Given the description of an element on the screen output the (x, y) to click on. 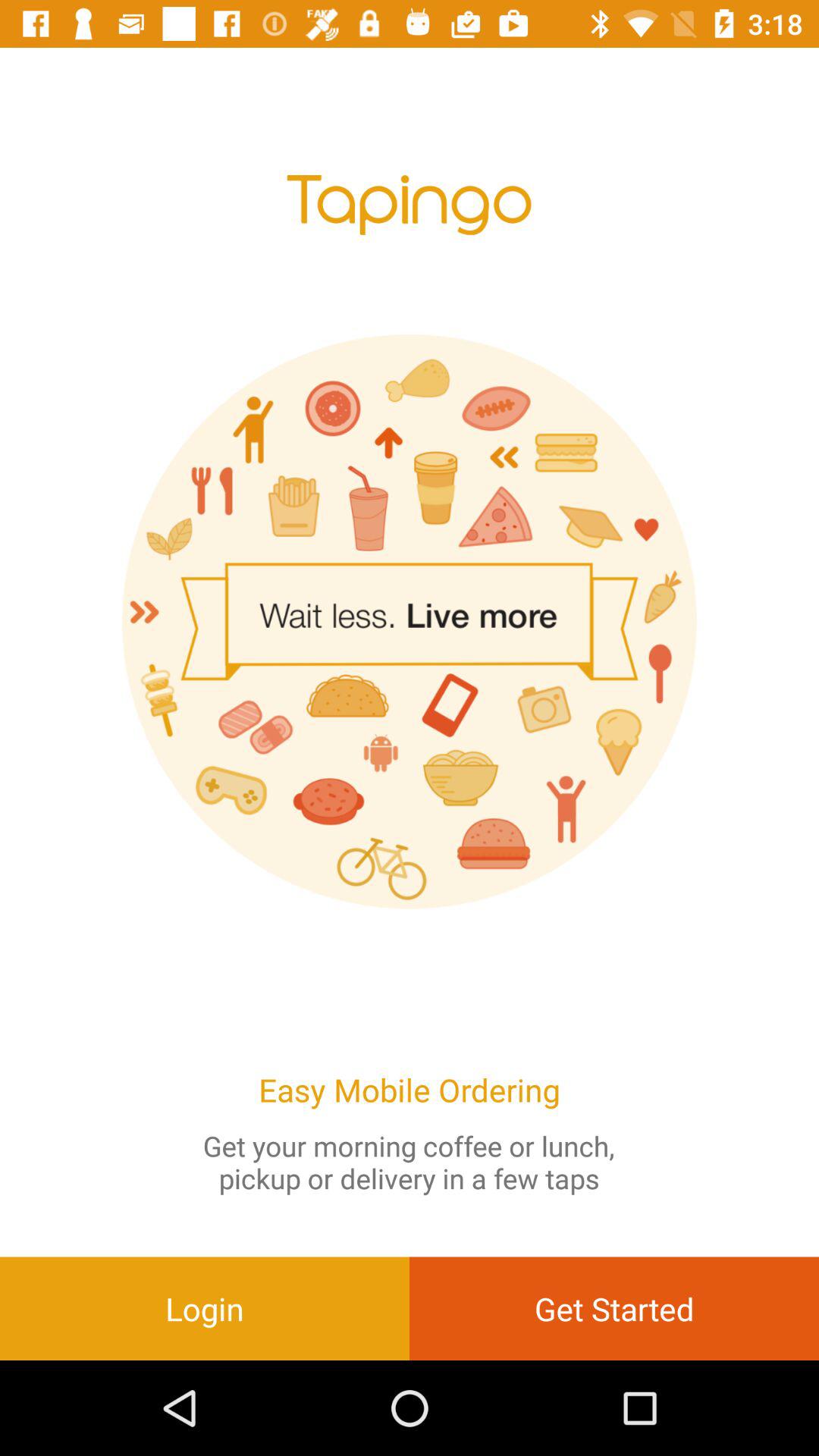
tap item to the left of the get started item (204, 1308)
